Given the description of an element on the screen output the (x, y) to click on. 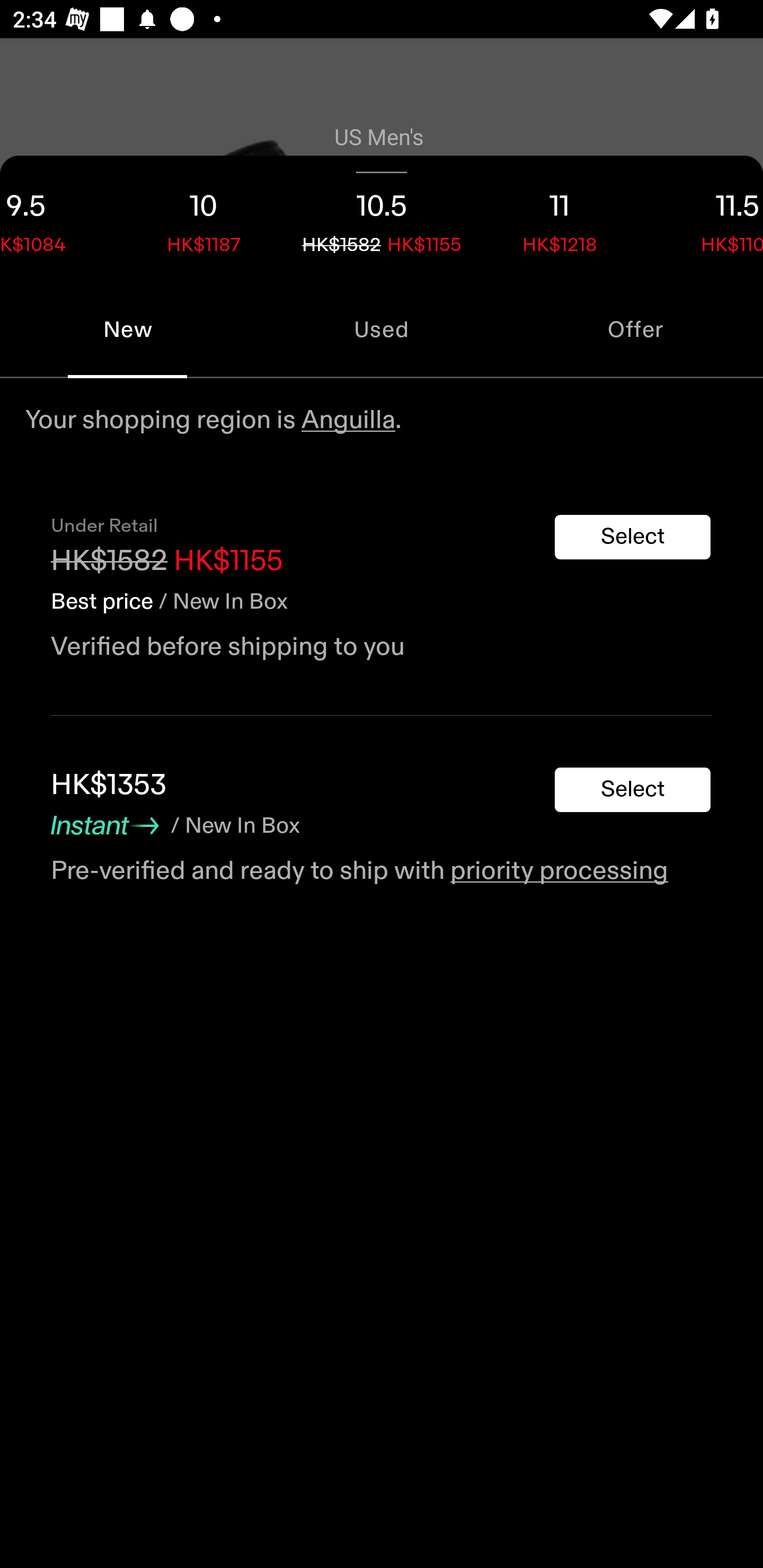
9.5 HK$1084 (57, 218)
10 HK$1187 (203, 218)
10.5 HK$1582 HK$1155 (381, 218)
11 HK$1218 (559, 218)
11.5 HK$1107 (705, 218)
Used (381, 329)
Offer (635, 329)
Select (632, 536)
HK$1353 (108, 785)
Select (632, 789)
